Given the description of an element on the screen output the (x, y) to click on. 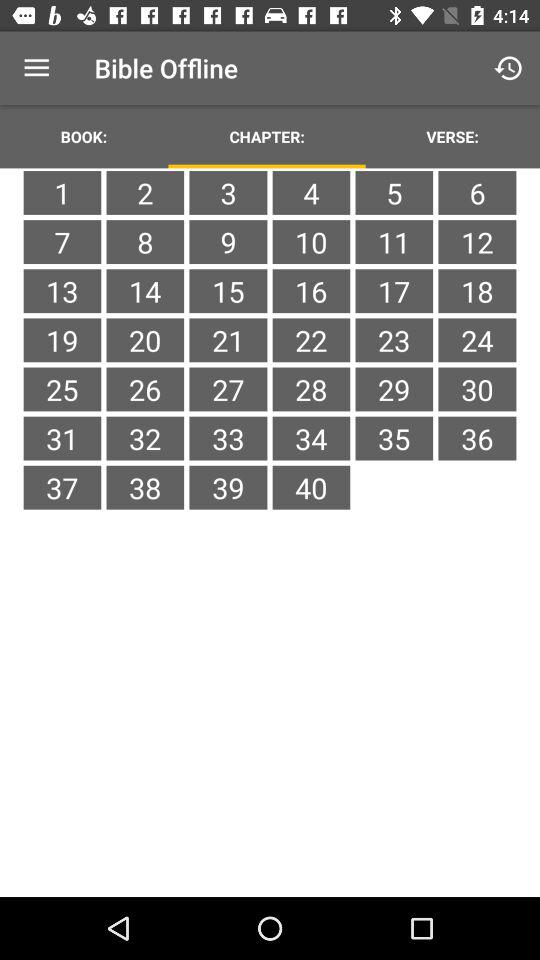
turn off the item to the left of bible offline (36, 68)
